Given the description of an element on the screen output the (x, y) to click on. 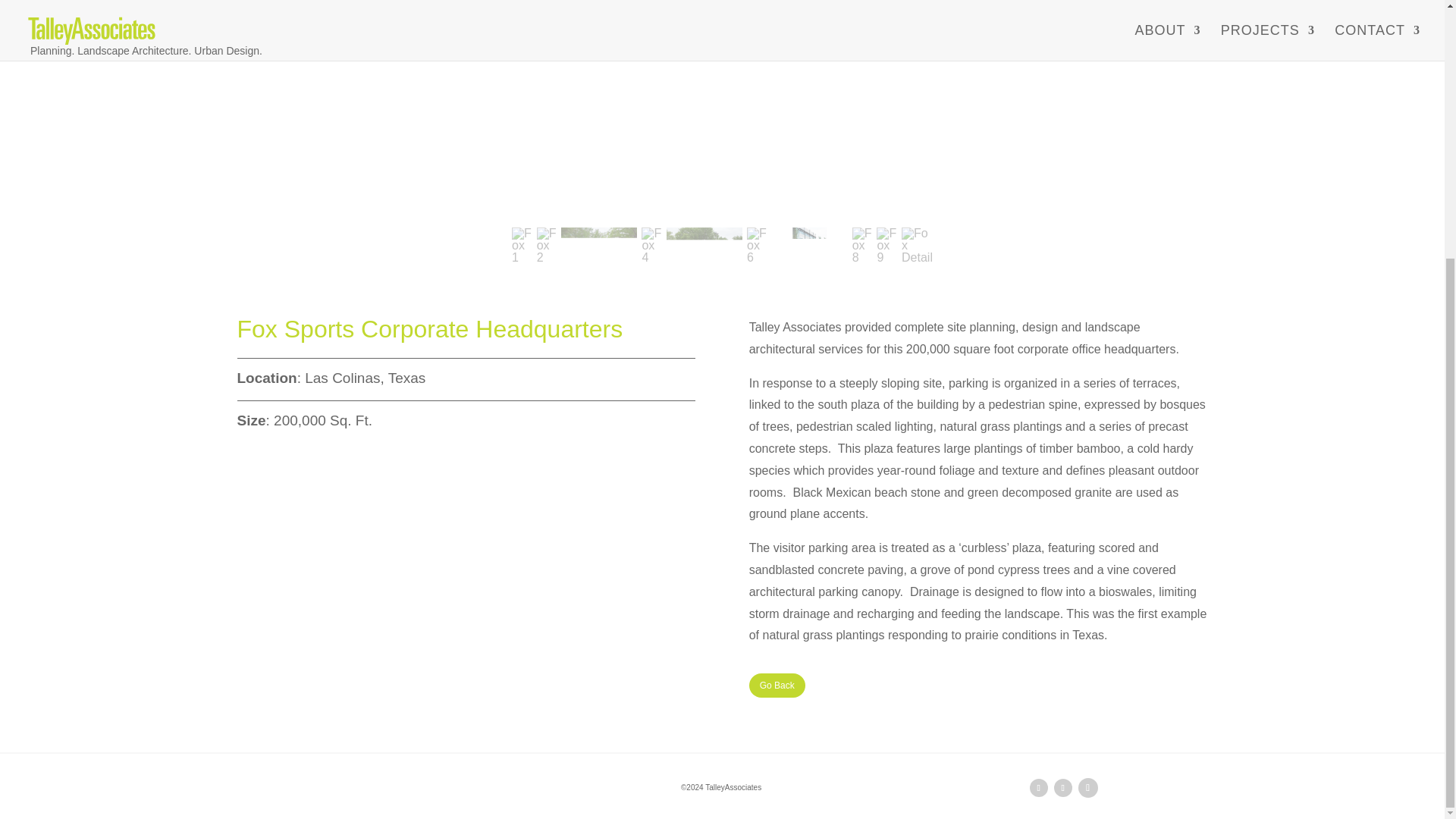
Follow on Facebook (1062, 787)
Follow on Instagram (1087, 787)
Follow on LinkedIn (1038, 787)
